Given the description of an element on the screen output the (x, y) to click on. 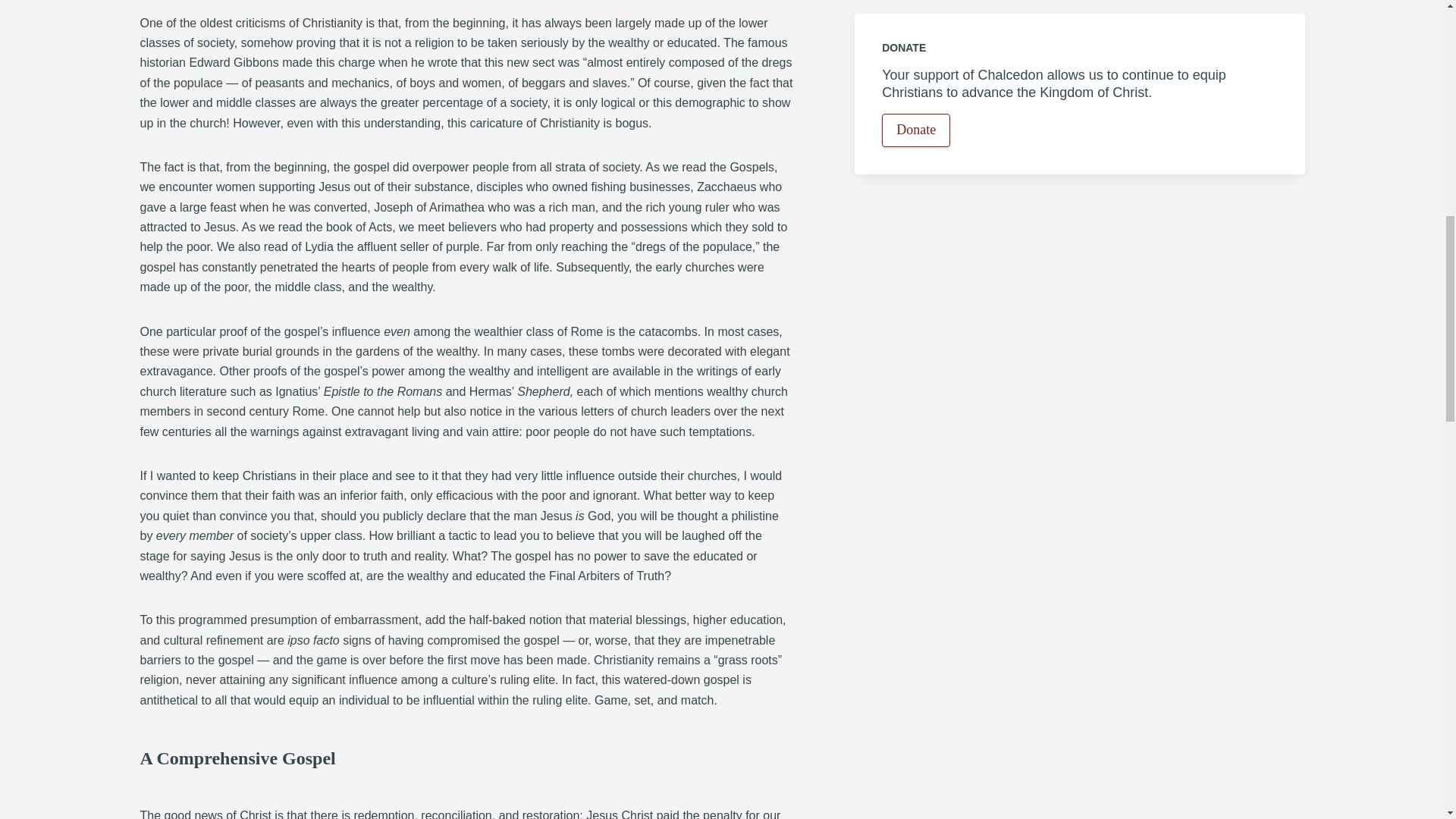
Donate (916, 129)
